Given the description of an element on the screen output the (x, y) to click on. 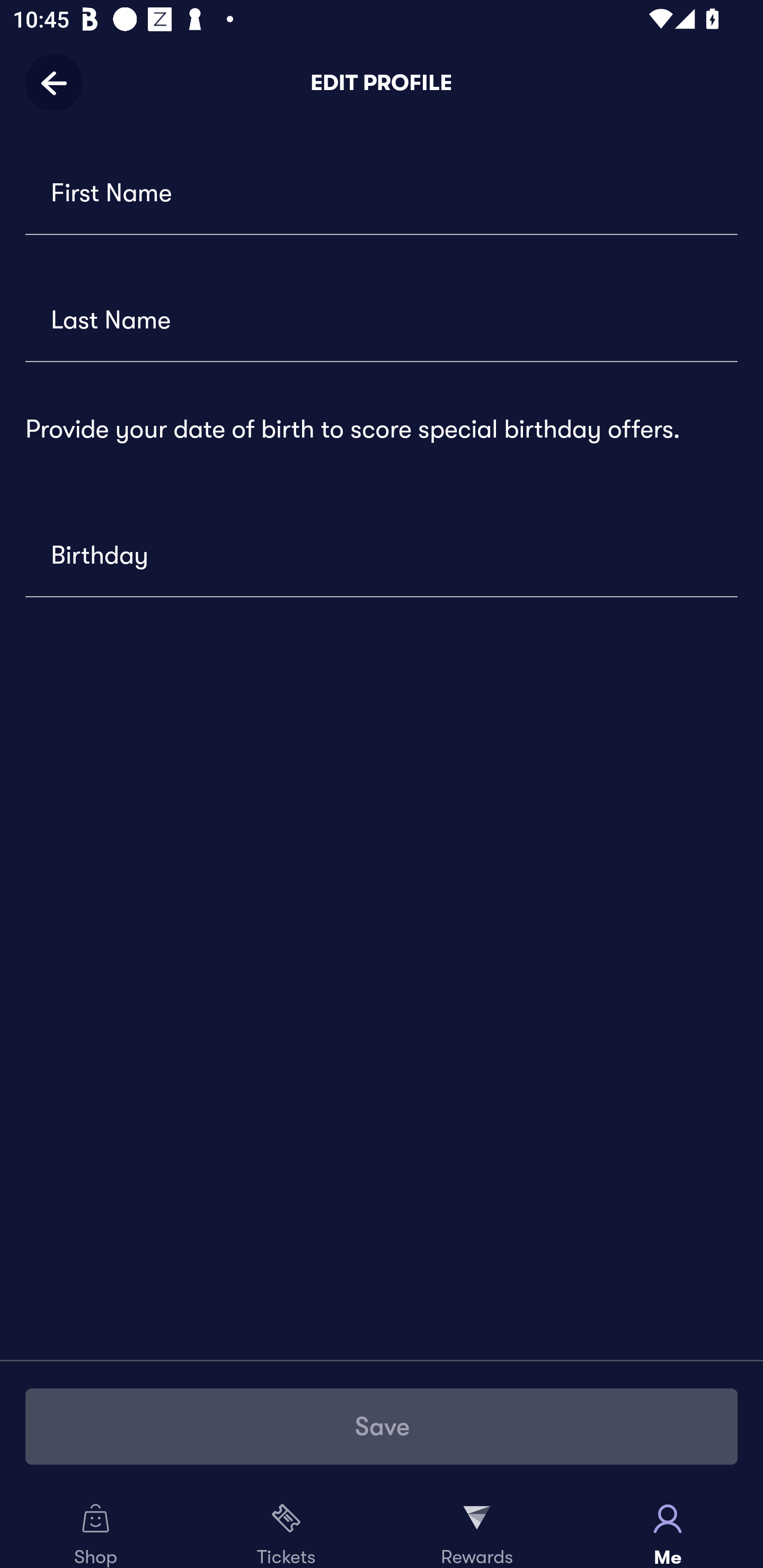
Back (60, 82)
  (381, 190)
  (381, 317)
  (381, 552)
Save (381, 1425)
Shop (95, 1529)
Tickets (285, 1529)
Rewards (476, 1529)
Me (667, 1529)
